Given the description of an element on the screen output the (x, y) to click on. 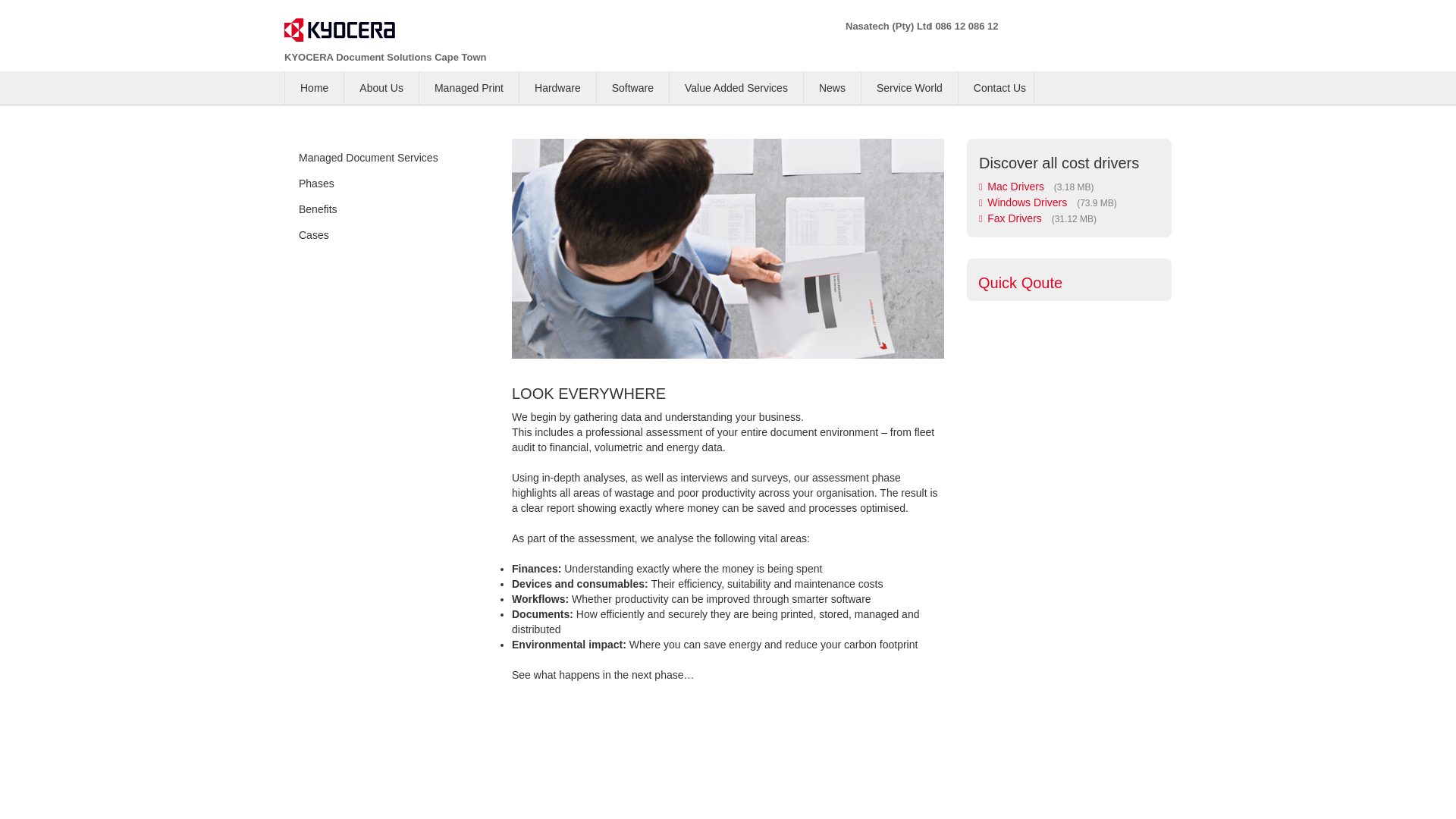
Hardware (557, 87)
News (831, 87)
Software (632, 87)
Service World (909, 87)
086 12 086 12 (965, 25)
About Us (381, 87)
Managed Print (468, 87)
Home (314, 87)
Value Added Services (735, 87)
Contact Us (999, 87)
